Given the description of an element on the screen output the (x, y) to click on. 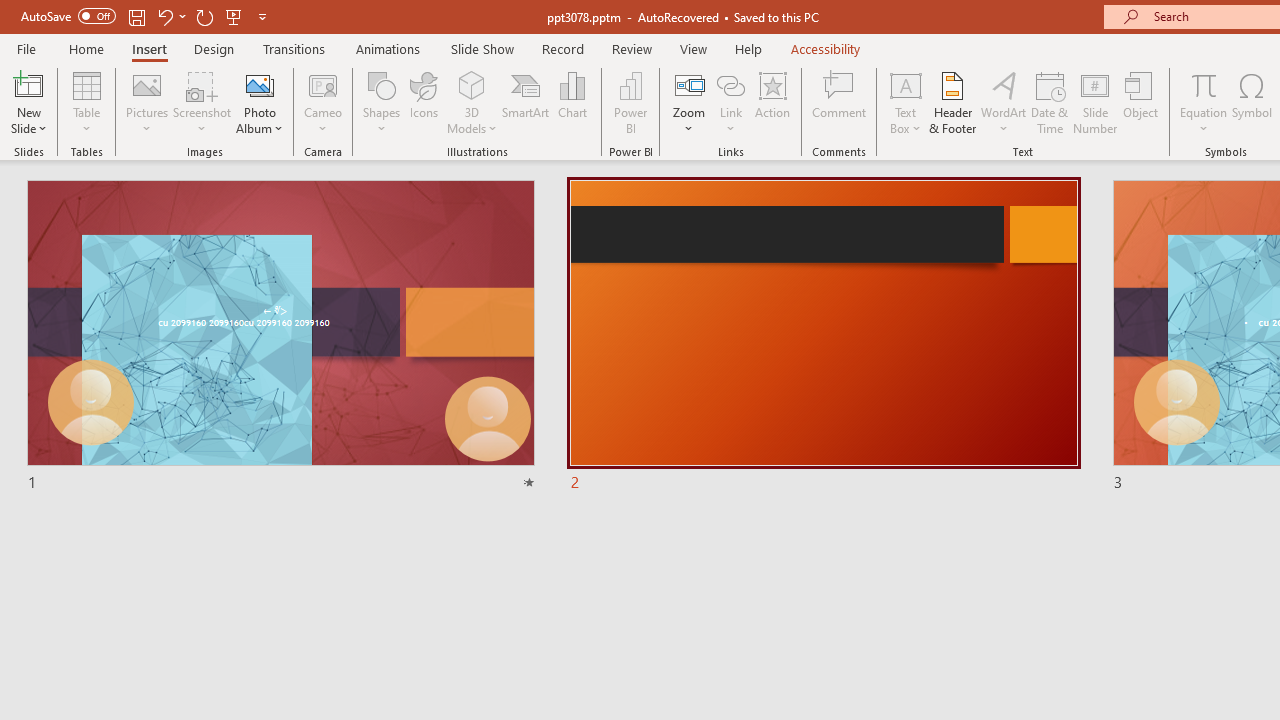
WordArt (1004, 102)
Chart... (572, 102)
Header & Footer... (952, 102)
New Photo Album... (259, 84)
